Given the description of an element on the screen output the (x, y) to click on. 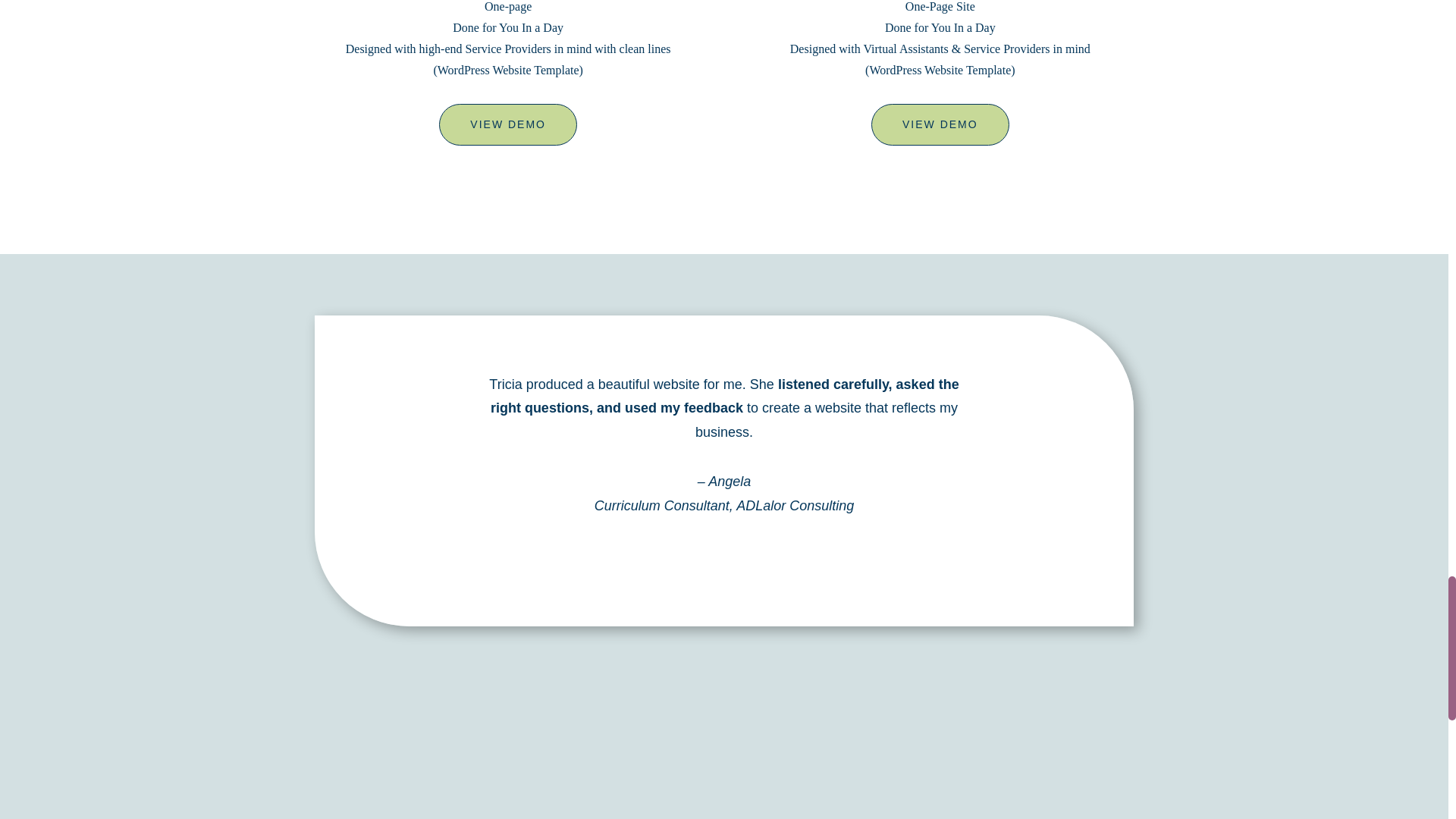
VIEW DEMO (507, 125)
VIEW DEMO (939, 125)
